Given the description of an element on the screen output the (x, y) to click on. 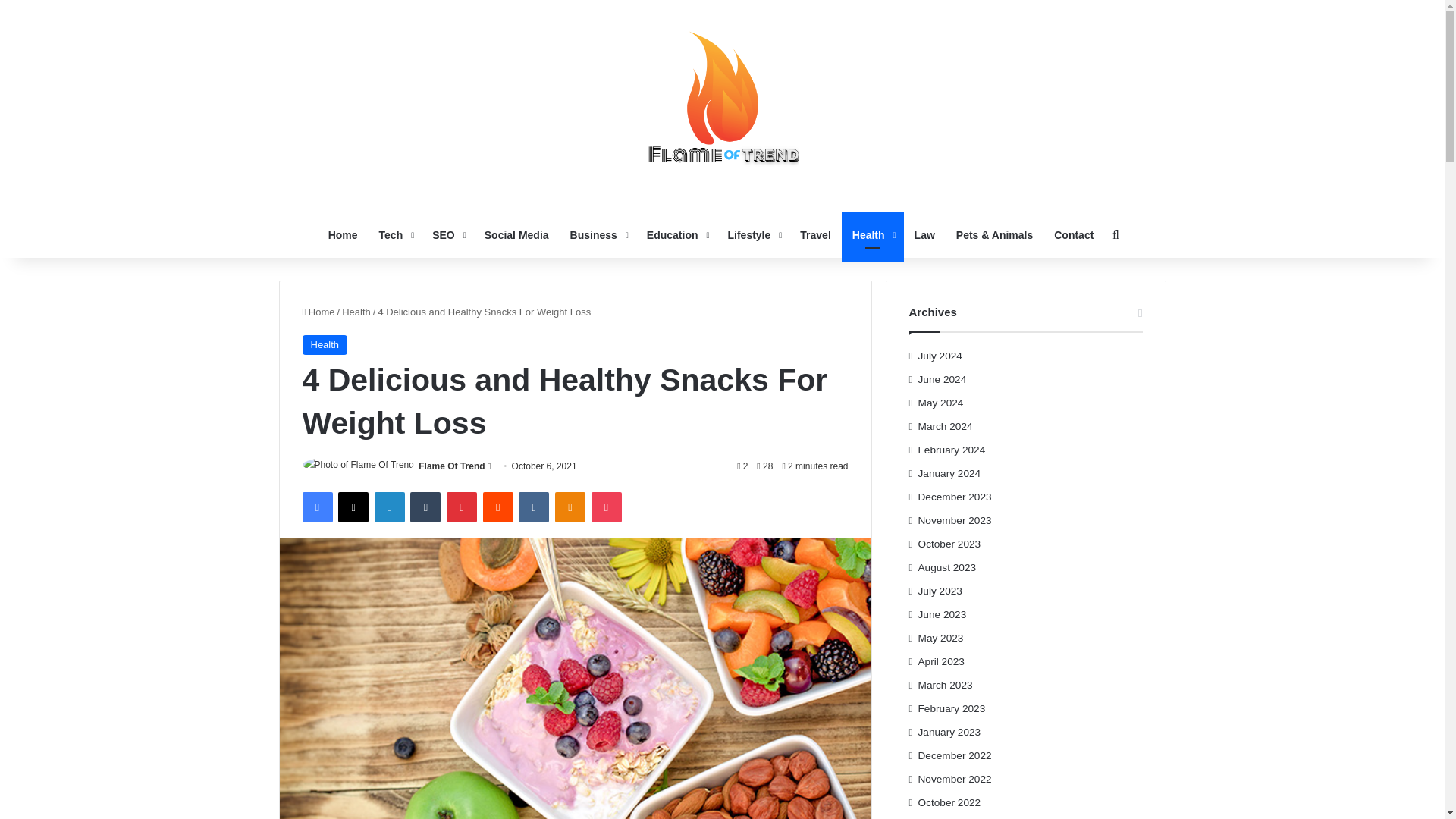
Pinterest (461, 507)
X (352, 507)
Business (597, 234)
Law (924, 234)
Facebook (316, 507)
Health (356, 311)
Tumblr (425, 507)
Tumblr (425, 507)
Pocket (606, 507)
Travel (815, 234)
X (352, 507)
Health (324, 344)
Pinterest (461, 507)
Facebook (316, 507)
Home (342, 234)
